Given the description of an element on the screen output the (x, y) to click on. 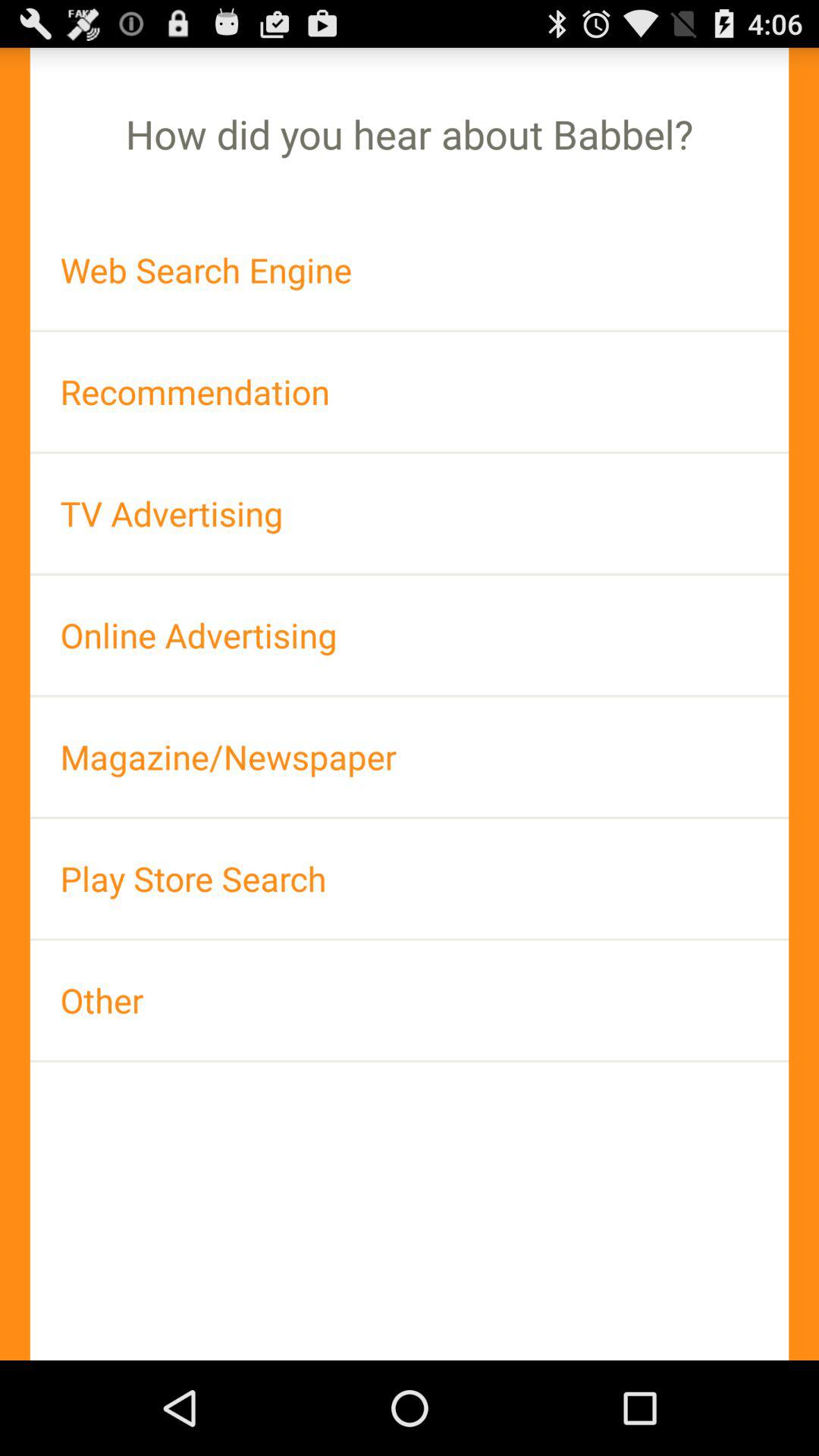
turn off the app at the bottom (409, 1000)
